Given the description of an element on the screen output the (x, y) to click on. 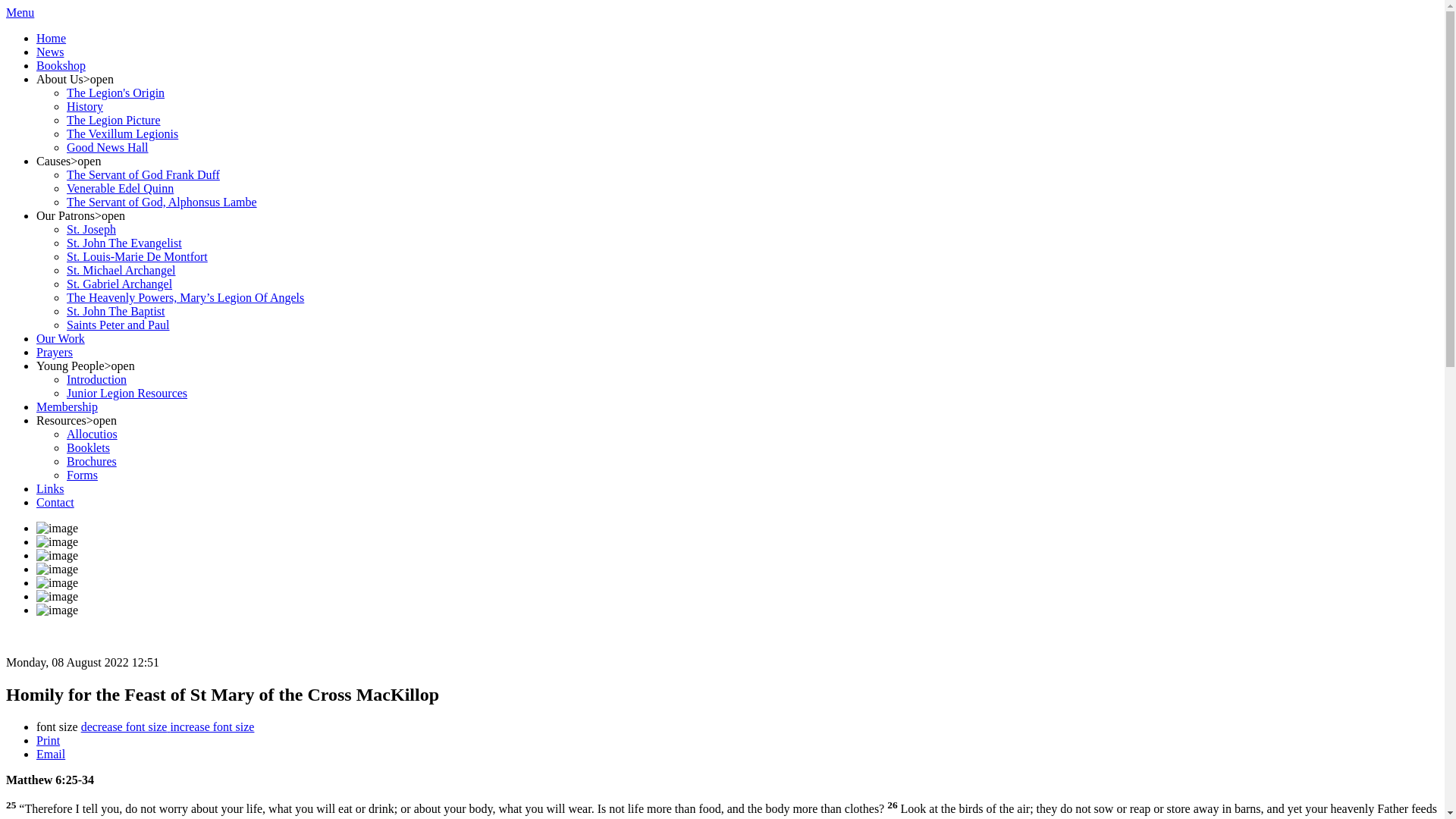
News Element type: text (49, 51)
History Element type: text (84, 106)
Venerable Edel Quinn Element type: text (119, 188)
Prayers Element type: text (54, 351)
St. John The Baptist Element type: text (115, 310)
Home Element type: text (50, 37)
image Element type: hover (57, 528)
image Element type: hover (57, 569)
image Element type: hover (57, 610)
The Servant of God, Alphonsus Lambe Element type: text (161, 201)
Allocutios Element type: text (91, 433)
Links Element type: text (49, 488)
Email Element type: text (50, 753)
St. Michael Archangel Element type: text (120, 269)
The Legion Picture Element type: text (113, 119)
St. Louis-Marie De Montfort Element type: text (136, 256)
Menu Element type: text (20, 12)
image Element type: hover (57, 596)
image Element type: hover (57, 542)
image Element type: hover (57, 582)
The Servant of God Frank Duff Element type: text (142, 174)
St. Joseph Element type: text (91, 228)
Brochures Element type: text (91, 461)
Forms Element type: text (81, 474)
The Vexillum Legionis Element type: text (122, 133)
image Element type: hover (57, 555)
Introduction Element type: text (96, 379)
Good News Hall Element type: text (107, 147)
Booklets Element type: text (87, 447)
increase font size Element type: text (211, 726)
Print Element type: text (47, 740)
St. John The Evangelist Element type: text (124, 242)
St. Gabriel Archangel Element type: text (119, 283)
Membership Element type: text (66, 406)
Contact Element type: text (55, 501)
Our Work Element type: text (60, 338)
Bookshop Element type: text (60, 65)
Saints Peter and Paul Element type: text (117, 324)
Junior Legion Resources Element type: text (126, 392)
decrease font size Element type: text (125, 726)
The Legion's Origin Element type: text (115, 92)
